Given the description of an element on the screen output the (x, y) to click on. 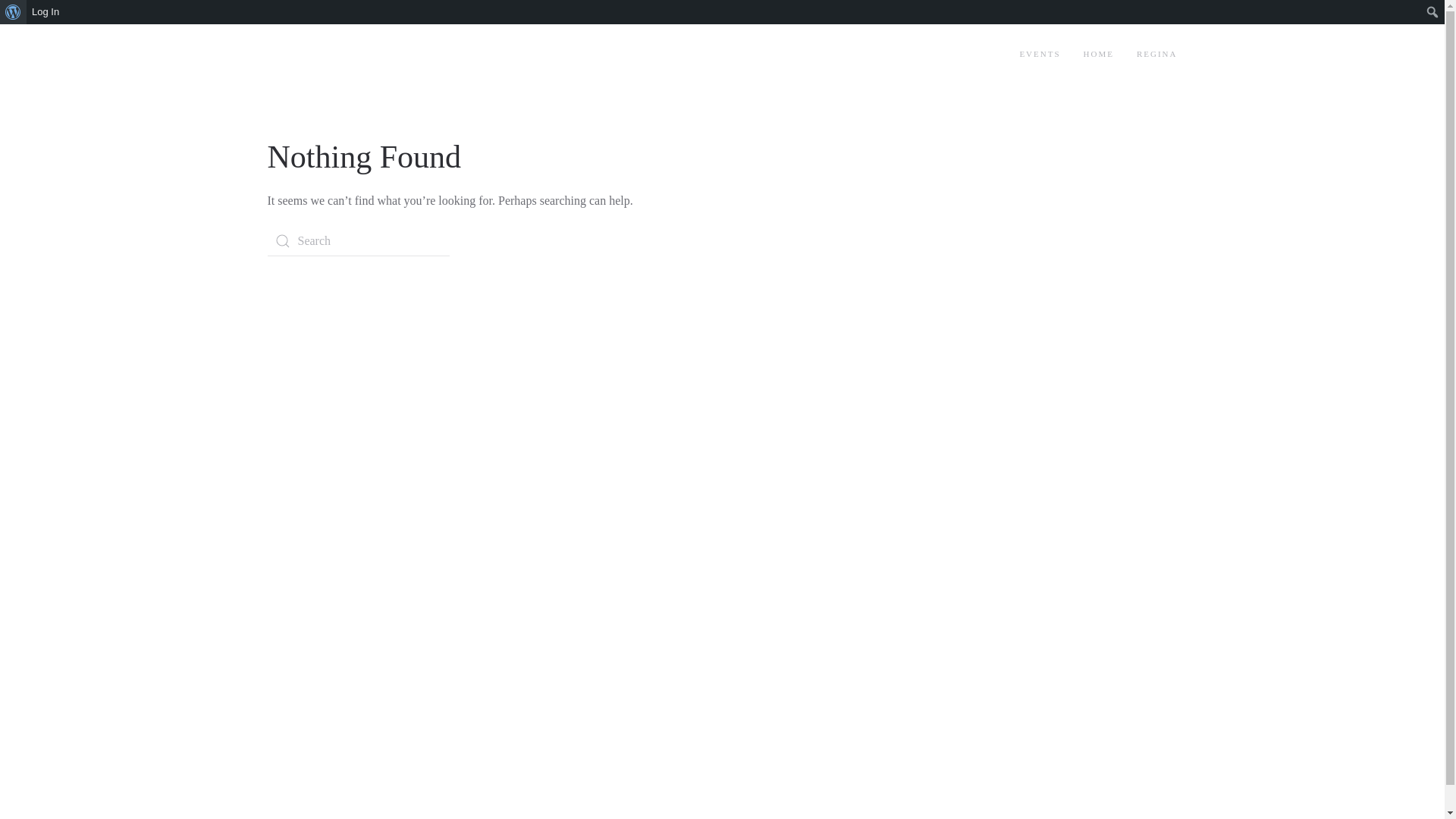
EVENTS Element type: text (1039, 54)
Search Element type: text (17, 13)
HOME Element type: text (1098, 54)
REGINA Element type: text (1156, 54)
Log In Element type: text (45, 12)
